Given the description of an element on the screen output the (x, y) to click on. 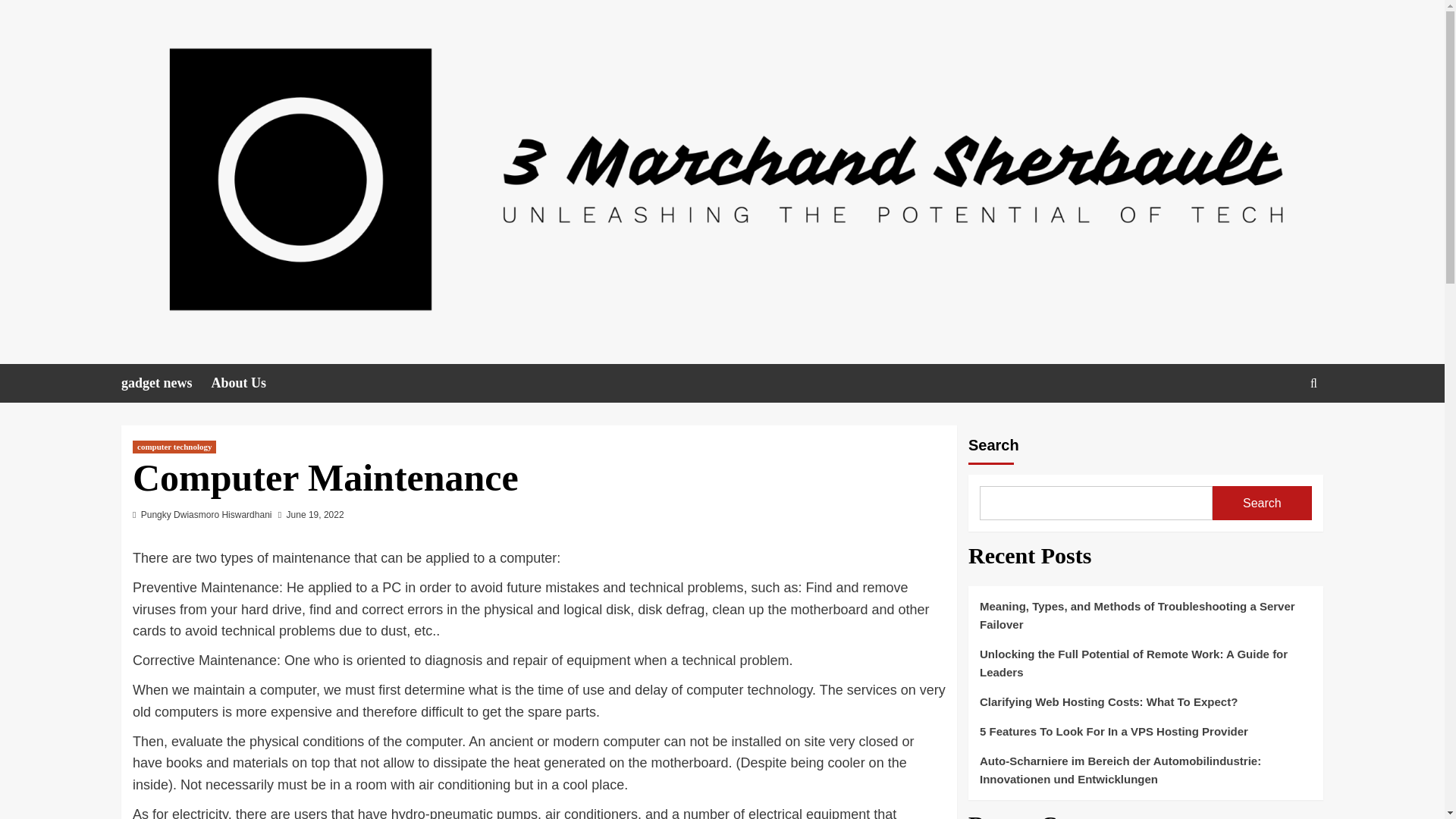
June 19, 2022 (314, 514)
Search (1261, 503)
5 Features To Look For In a VPS Hosting Provider (1145, 737)
Search (1278, 430)
Pungky Dwiasmoro Hiswardhani (206, 514)
computer technology (173, 446)
Clarifying Web Hosting Costs: What To Expect? (1145, 707)
